Given the description of an element on the screen output the (x, y) to click on. 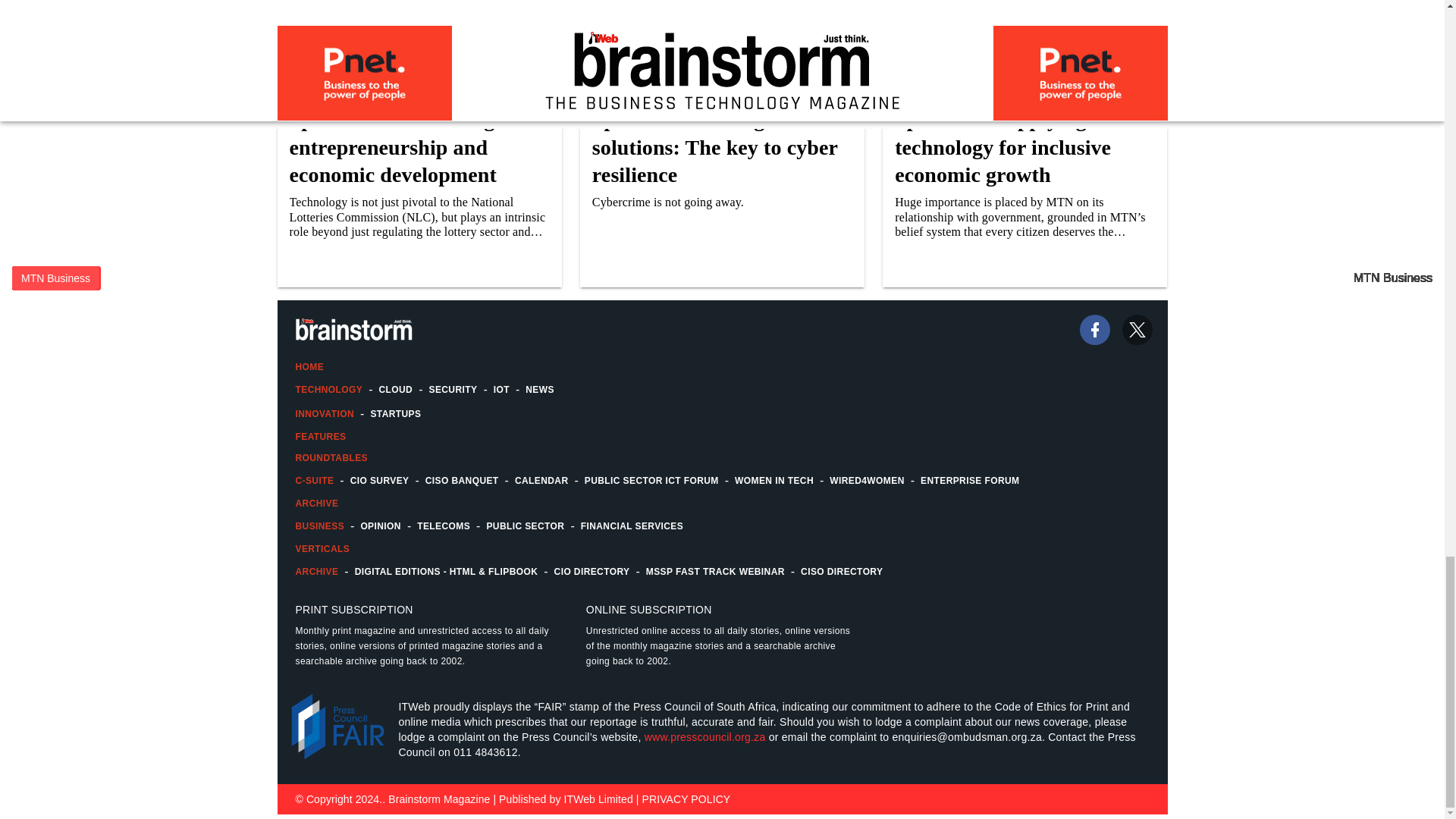
MTN Business (55, 278)
